Given the description of an element on the screen output the (x, y) to click on. 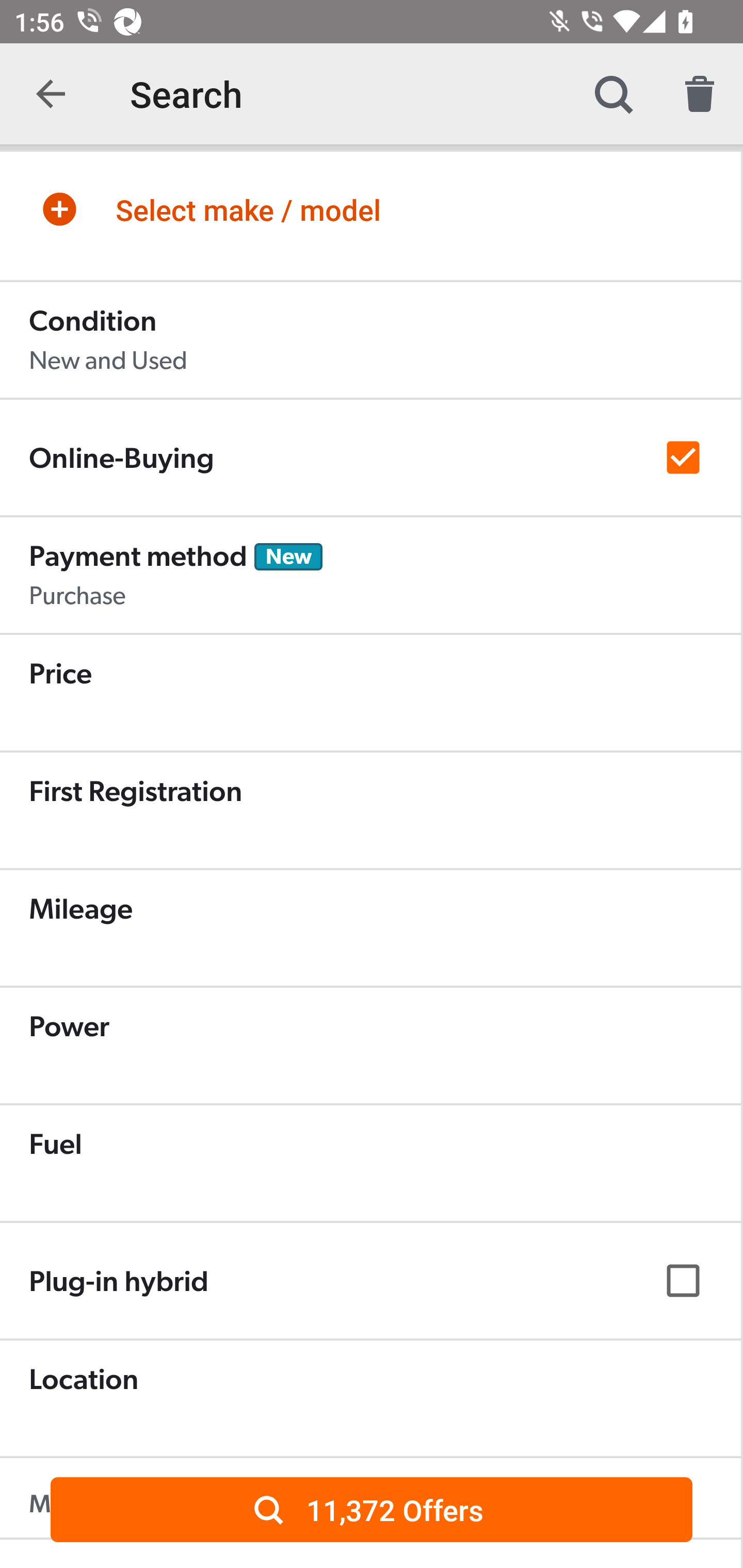
Navigate up (50, 93)
Search (612, 93)
Reset search (699, 93)
Select make / model (370, 209)
Condition New and Used (370, 340)
Online-Buying (370, 457)
Online-Buying (369, 457)
Payment method New Purchase (370, 575)
Price (370, 693)
First Registration (370, 810)
Mileage (370, 928)
Power (370, 1045)
Fuel (370, 1163)
Plug-in hybrid (370, 1281)
Plug-in hybrid (369, 1280)
Location (370, 1398)
11,372 Offers (371, 1509)
